Given the description of an element on the screen output the (x, y) to click on. 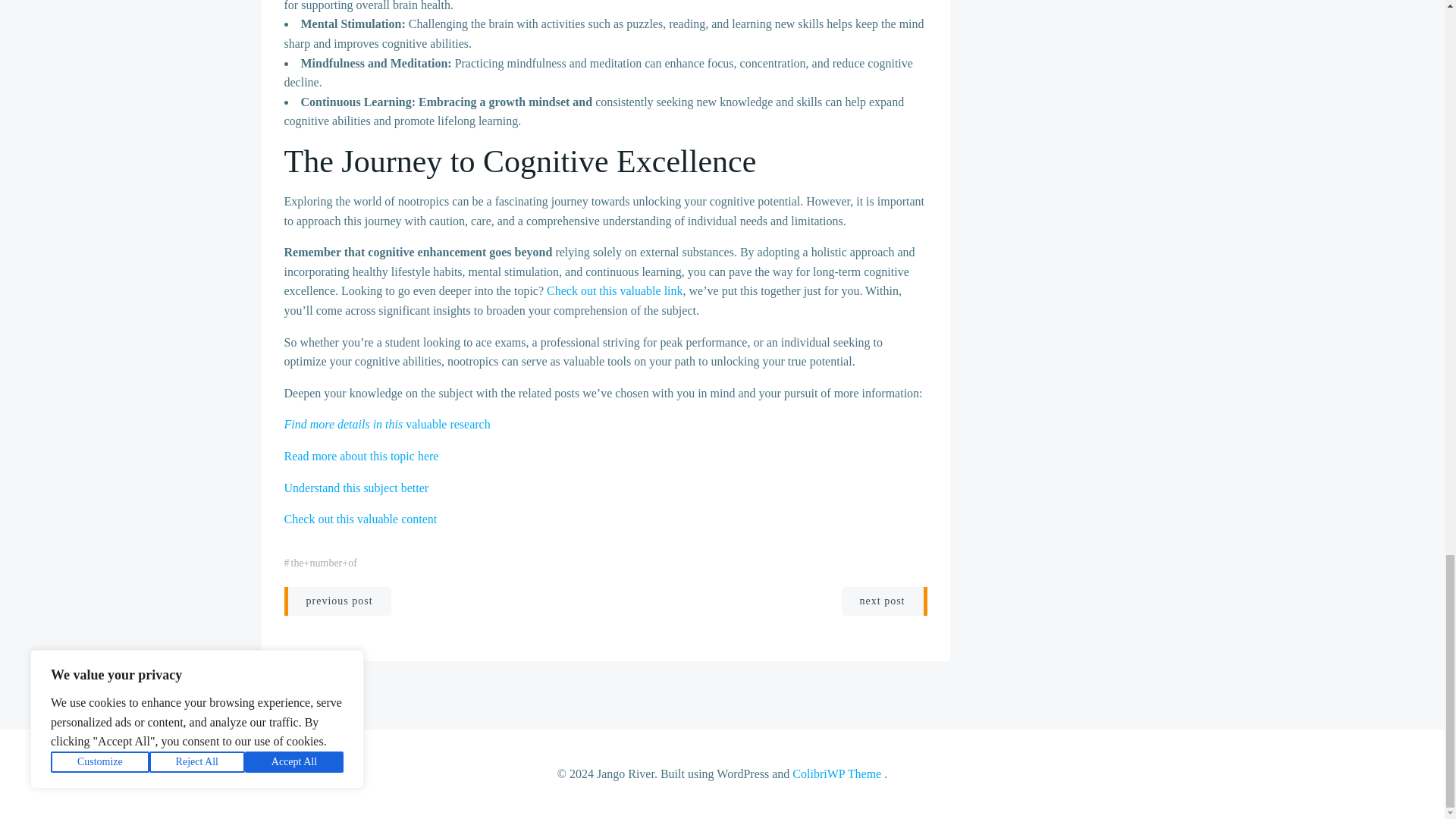
Read more about this topic here (360, 455)
Find more details in this valuable research (386, 423)
Check out this valuable content (359, 518)
Check out this valuable link (614, 290)
next post (884, 601)
previous post (336, 601)
Understand this subject better (355, 486)
